Given the description of an element on the screen output the (x, y) to click on. 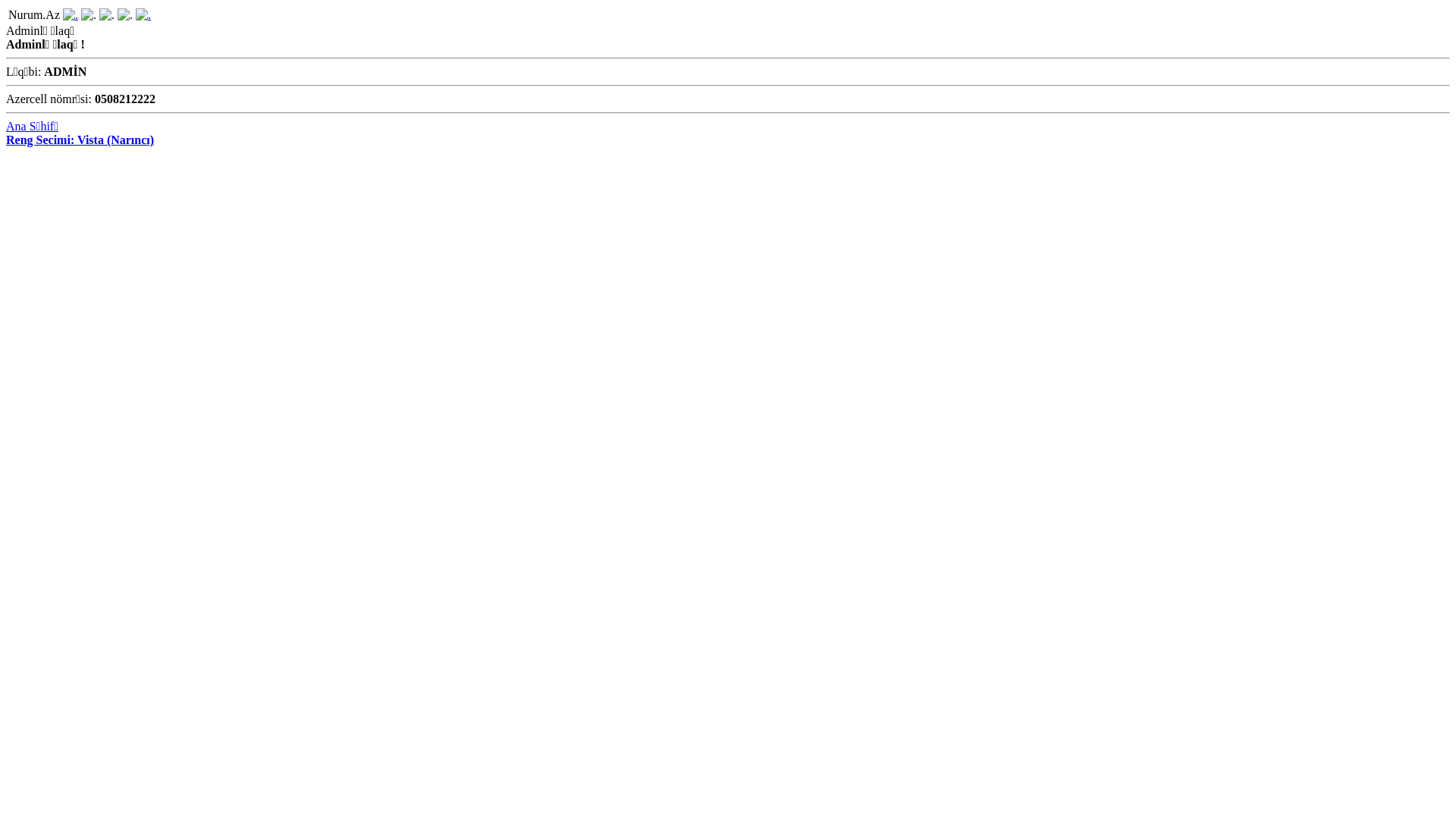
Mesajlar Element type: hover (88, 14)
Qeydiyyat Element type: hover (142, 14)
Qonaqlar Element type: hover (124, 14)
Bildirisler Element type: hover (106, 14)
